Given the description of an element on the screen output the (x, y) to click on. 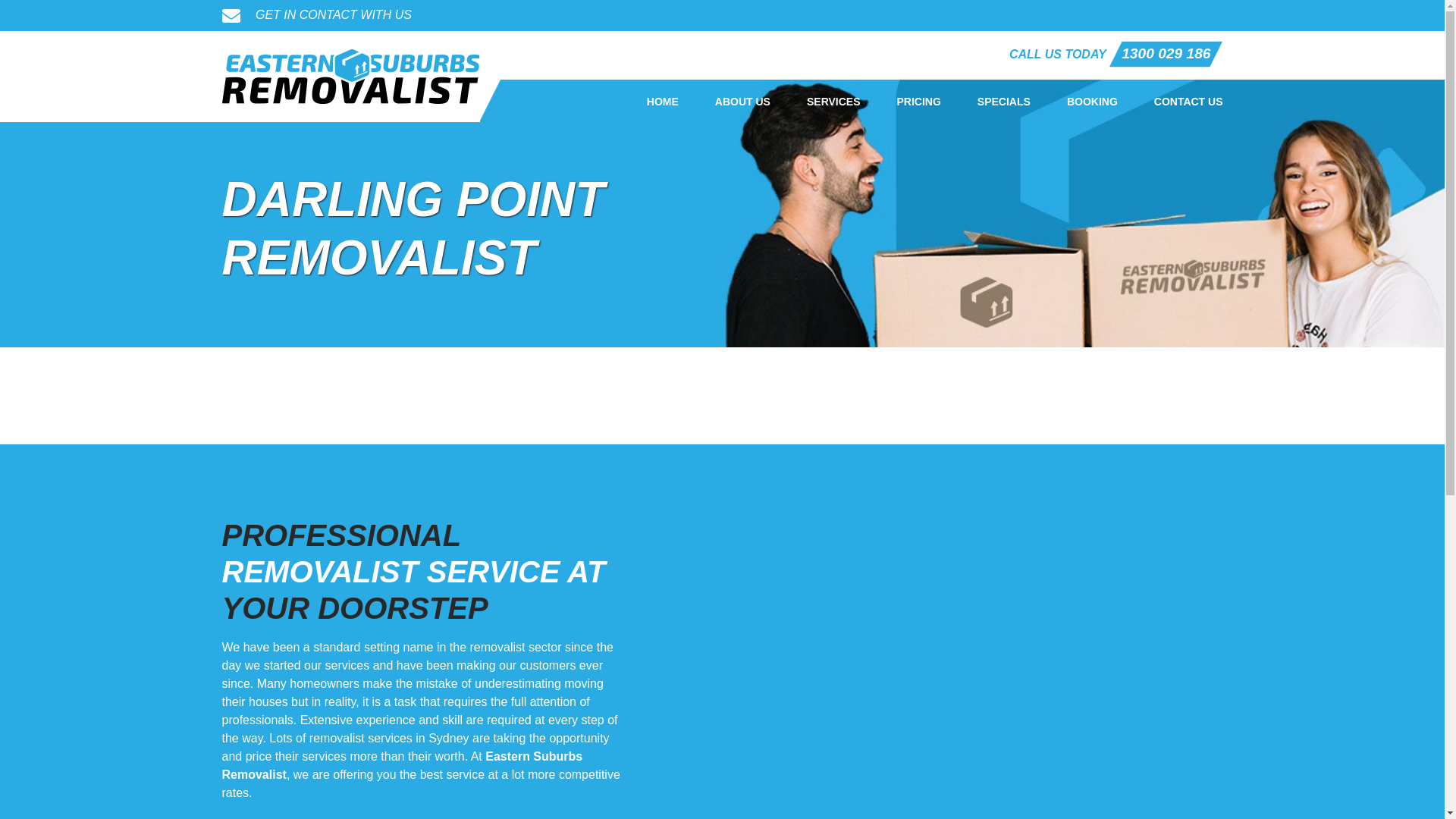
SERVICES Element type: text (833, 101)
HOME Element type: text (662, 101)
PRICING Element type: text (918, 101)
1300 029 186 Element type: text (1165, 54)
SPECIALS Element type: text (1003, 101)
GET IN CONTACT WITH US Element type: text (316, 15)
CONTACT US Element type: text (1188, 101)
ABOUT US Element type: text (742, 101)
BOOKING Element type: text (1091, 101)
